Given the description of an element on the screen output the (x, y) to click on. 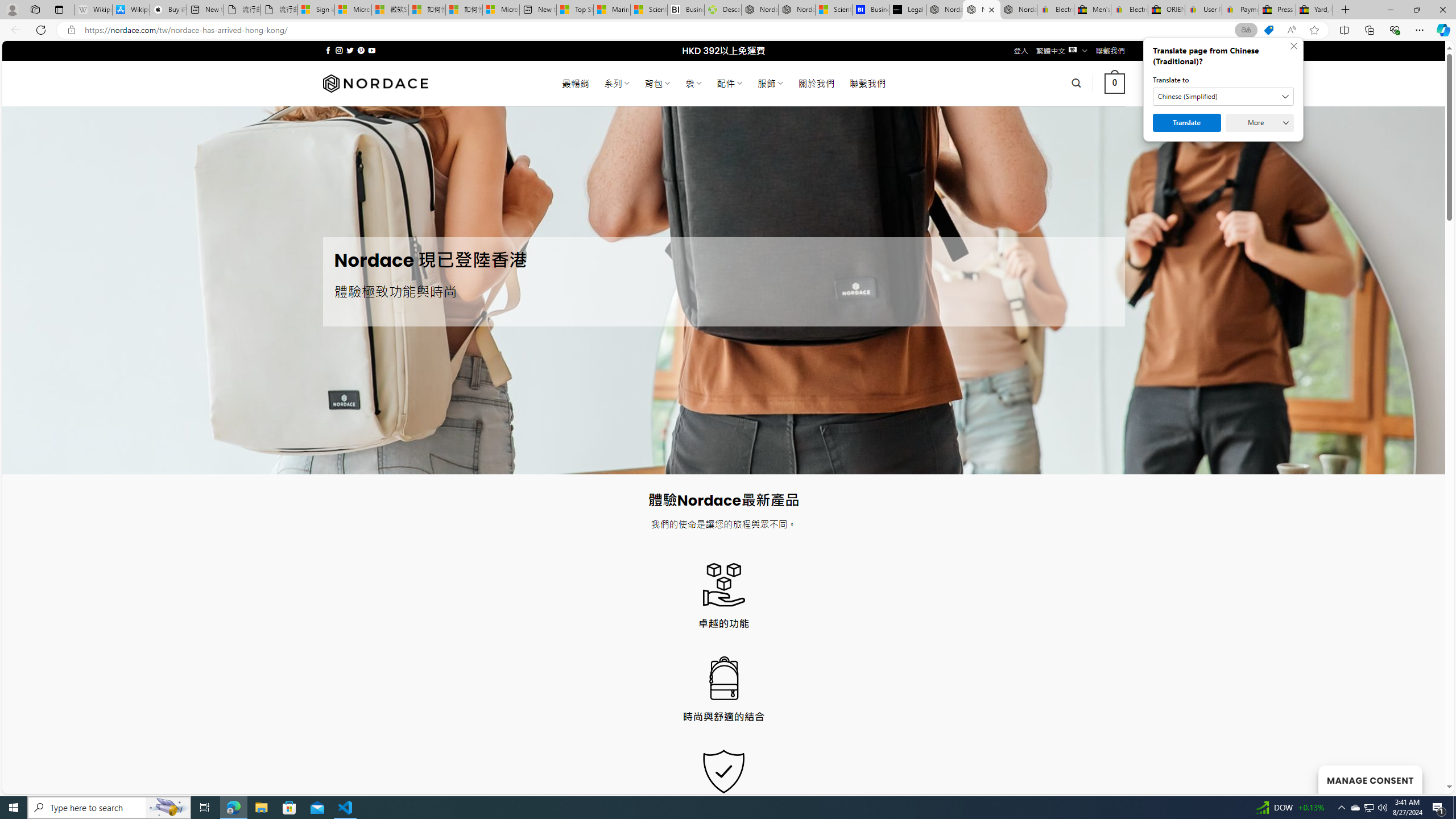
Follow on Pinterest (360, 50)
More (1259, 122)
Translate (1187, 122)
